Given the description of an element on the screen output the (x, y) to click on. 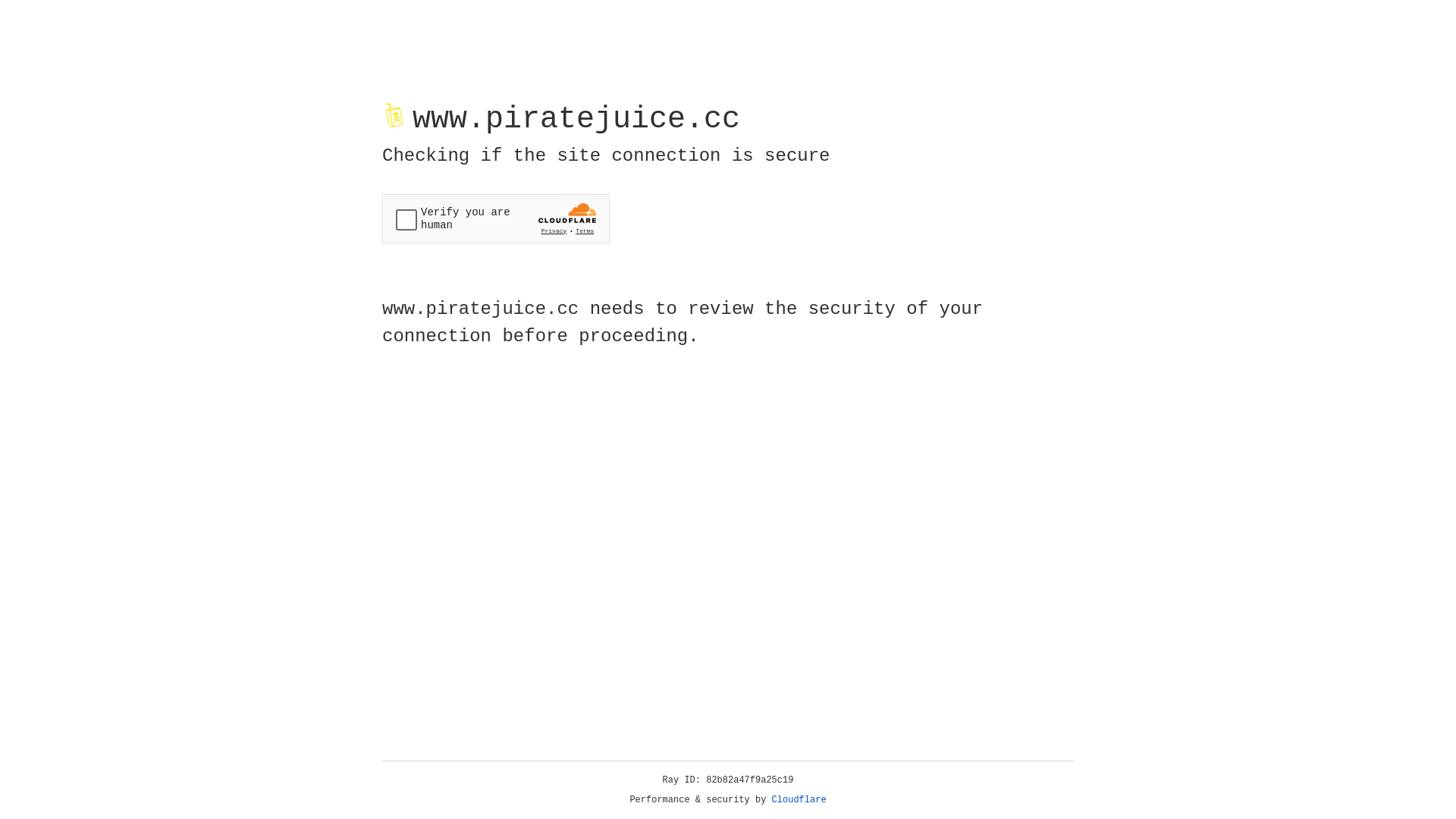
Widget containing a Cloudflare security challenge Element type: hover (495, 218)
Cloudflare Element type: text (798, 799)
